Given the description of an element on the screen output the (x, y) to click on. 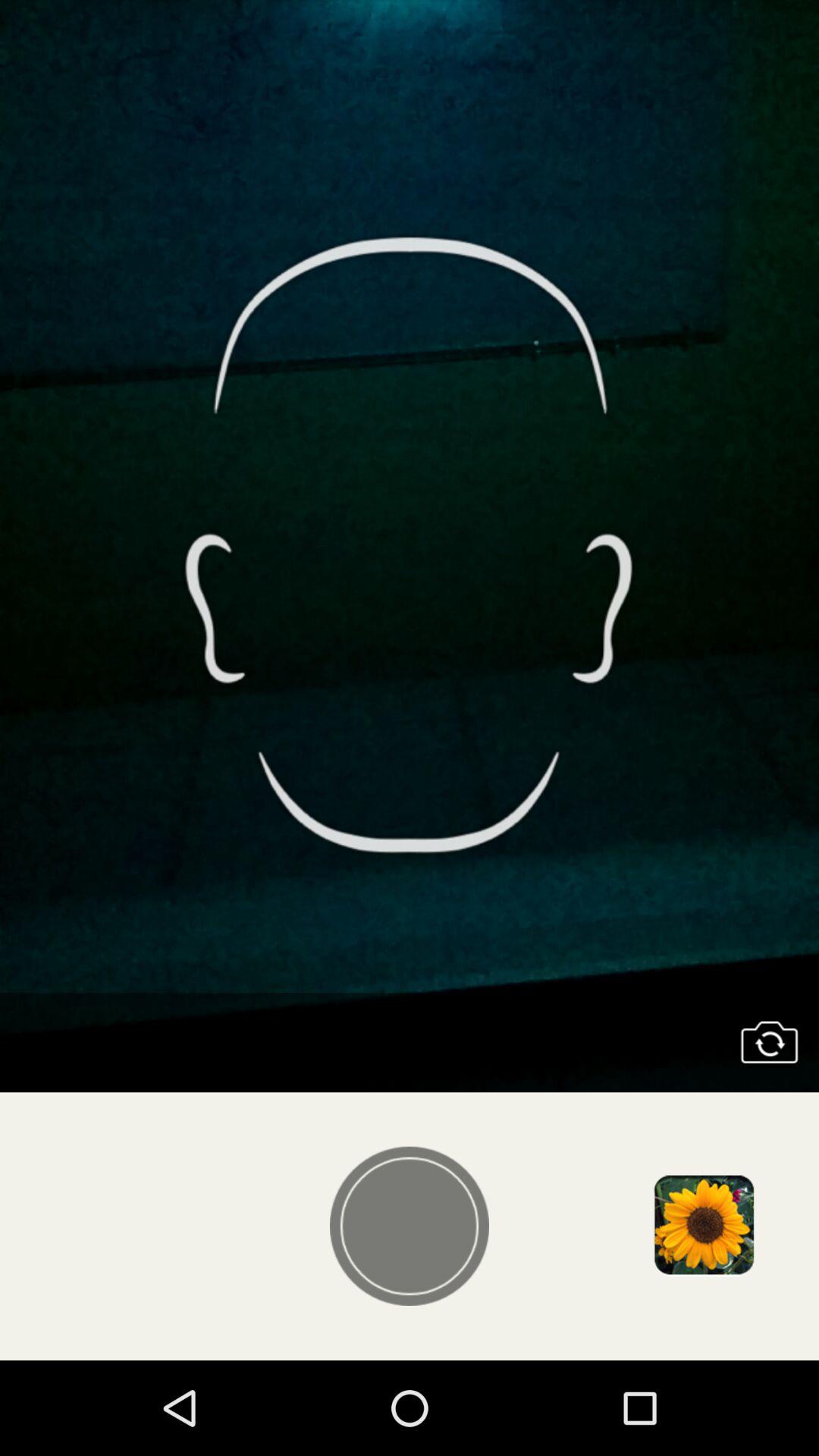
share the article (703, 1225)
